Given the description of an element on the screen output the (x, y) to click on. 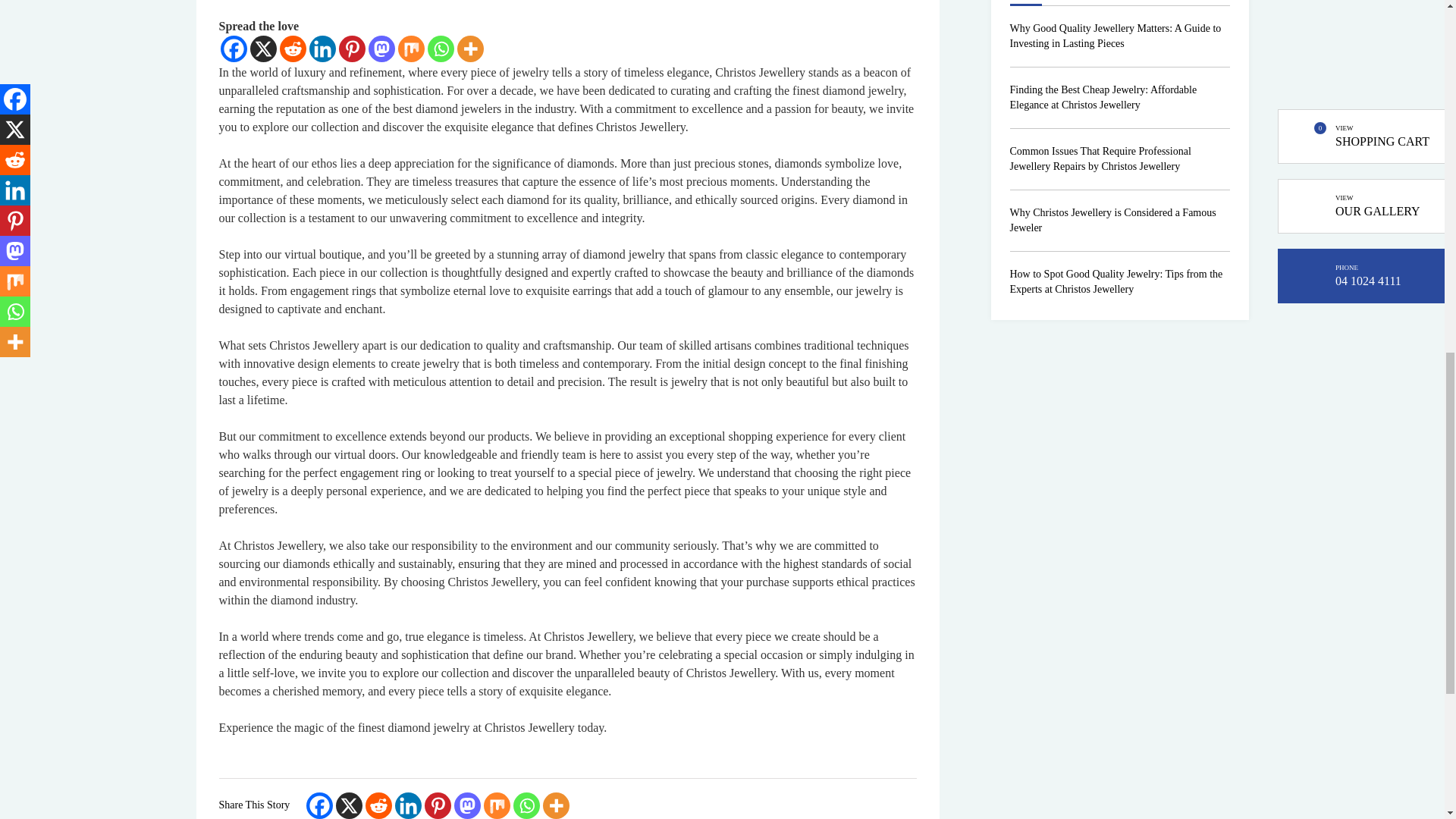
Facebook (232, 49)
Whatsapp (441, 49)
Mastodon (381, 49)
More (470, 49)
Reddit (292, 49)
Linkedin (322, 49)
Mix (410, 49)
X (263, 49)
Pinterest (351, 49)
